Given the description of an element on the screen output the (x, y) to click on. 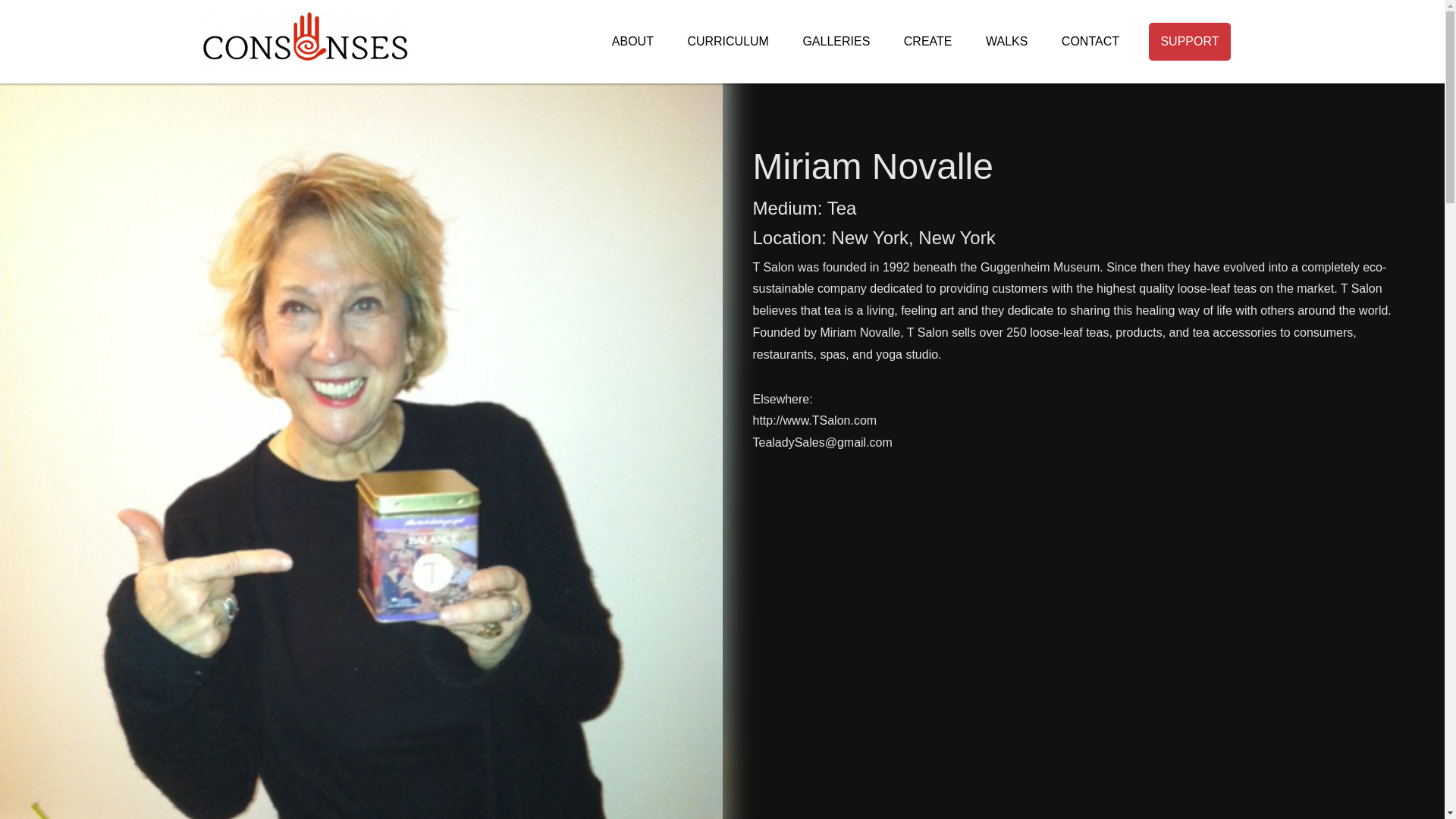
GALLERIES (835, 40)
SUPPORT (1189, 40)
WALKS (1005, 40)
CREATE (927, 40)
CURRICULUM (727, 40)
CONTACT (1090, 40)
ABOUT (633, 40)
